Given the description of an element on the screen output the (x, y) to click on. 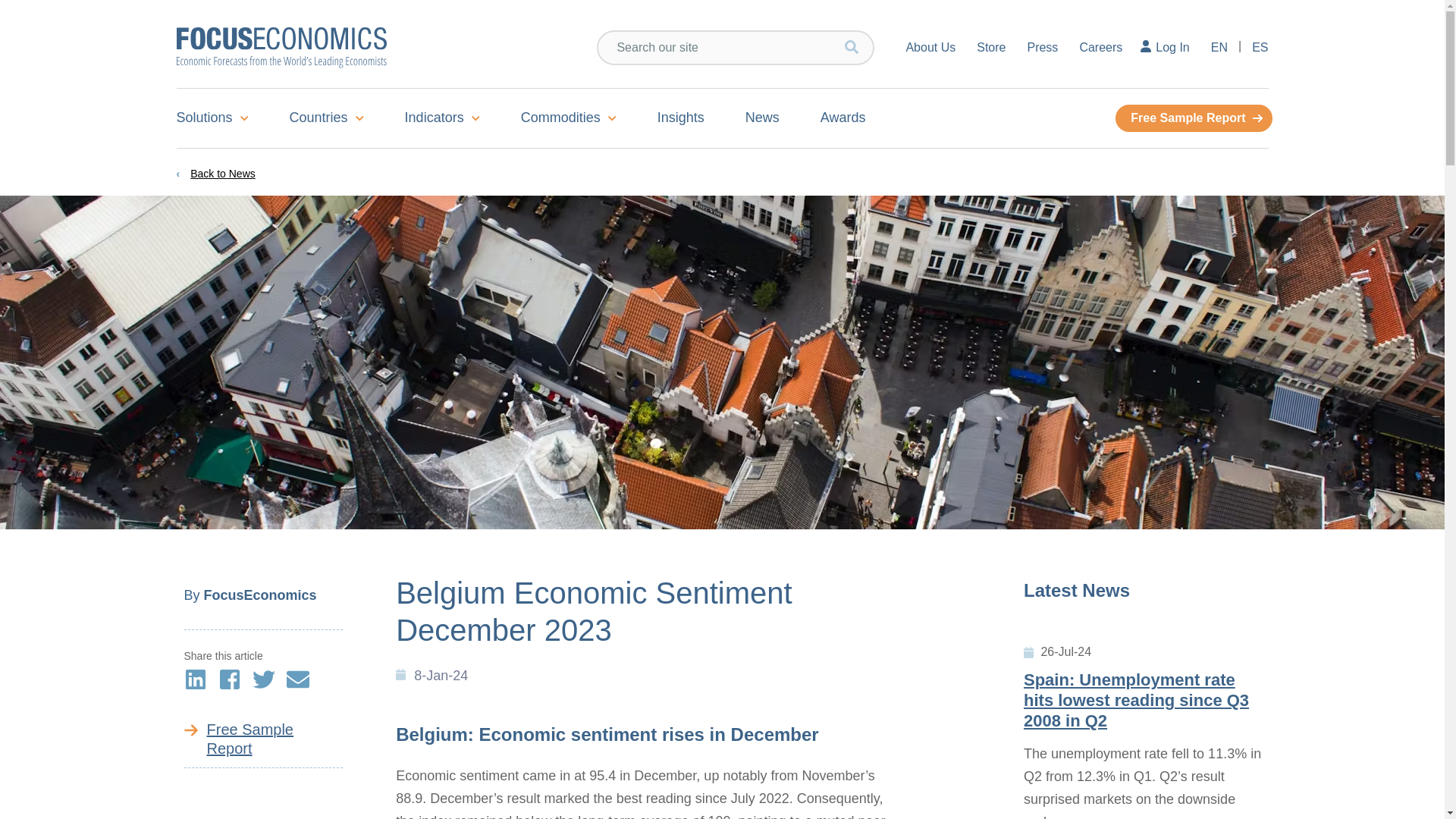
Careers (1100, 47)
About Us (920, 47)
ES (1254, 47)
Press (1042, 47)
EN (1219, 47)
Store (991, 47)
Countries (326, 118)
Solutions (221, 118)
Countries (326, 118)
Solutions (221, 118)
Log In (1165, 47)
